Given the description of an element on the screen output the (x, y) to click on. 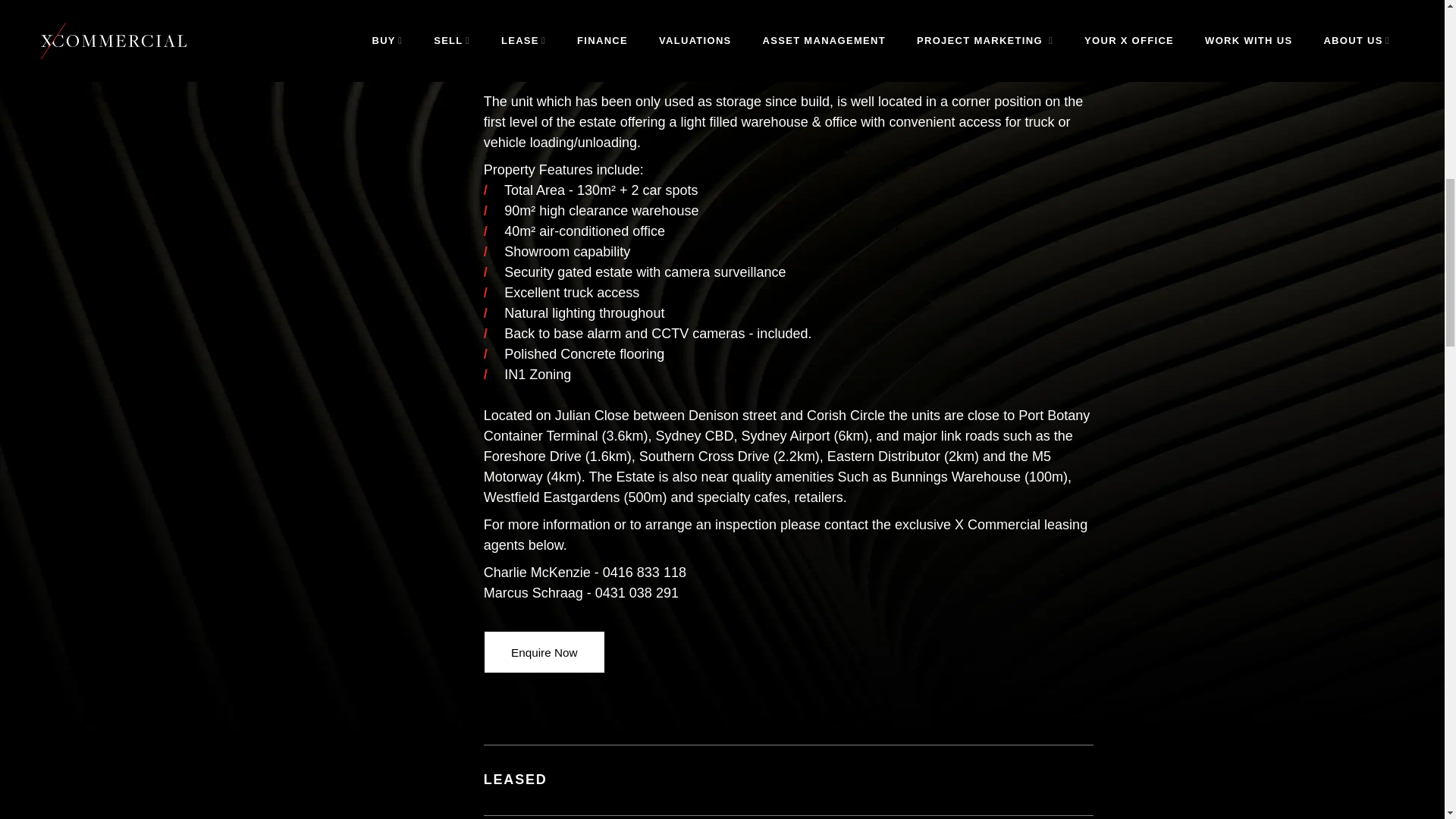
Enquire Now (544, 651)
